Given the description of an element on the screen output the (x, y) to click on. 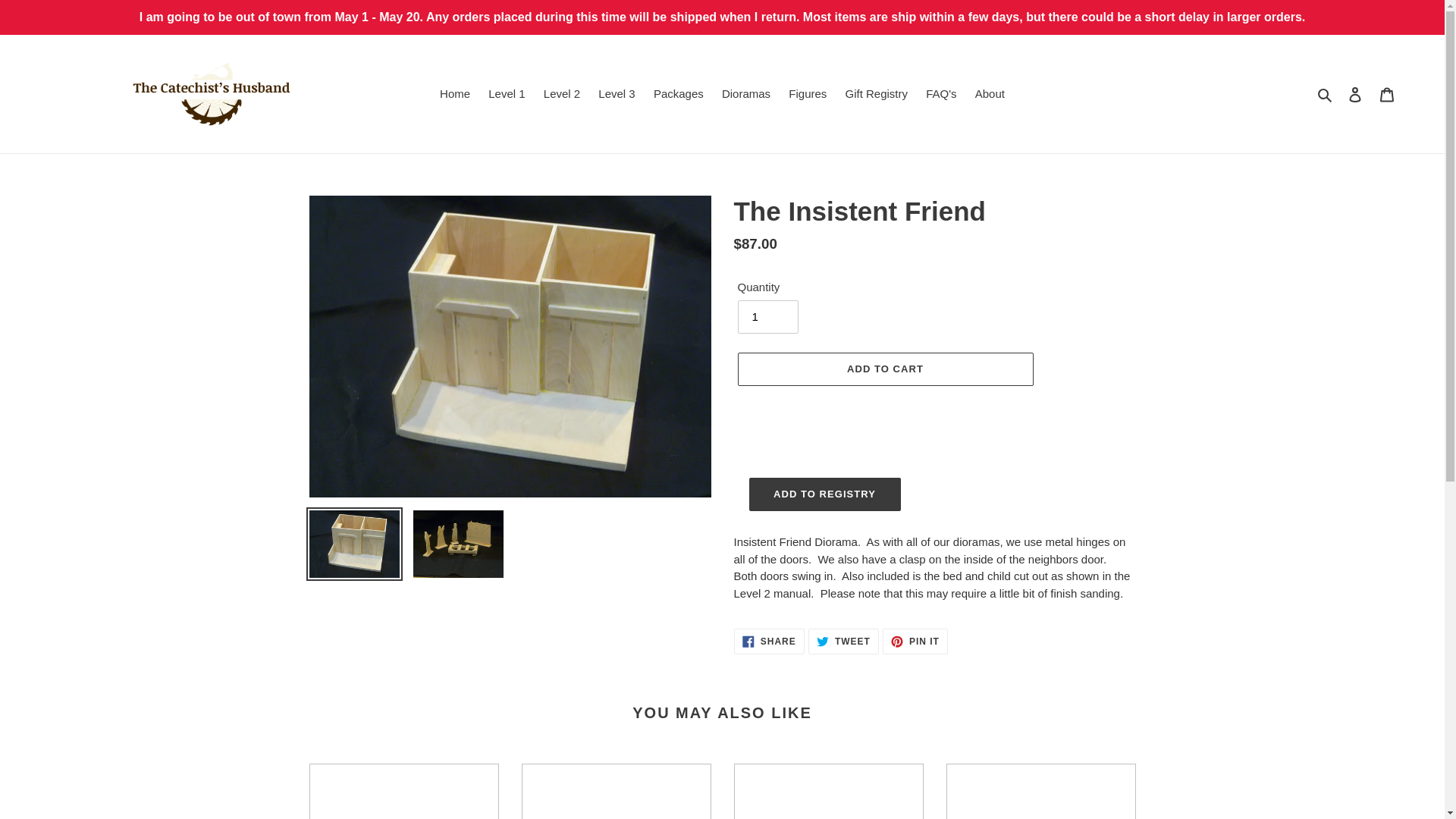
About (989, 94)
Level 3 (616, 94)
ADD TO CART (843, 641)
Home (884, 368)
Gift Registry (454, 94)
Figures (769, 641)
Cart (876, 94)
FAQ's (807, 94)
Add to Registry (1387, 93)
Liturgical Calendar (940, 94)
Search (825, 494)
1 (403, 791)
